Given the description of an element on the screen output the (x, y) to click on. 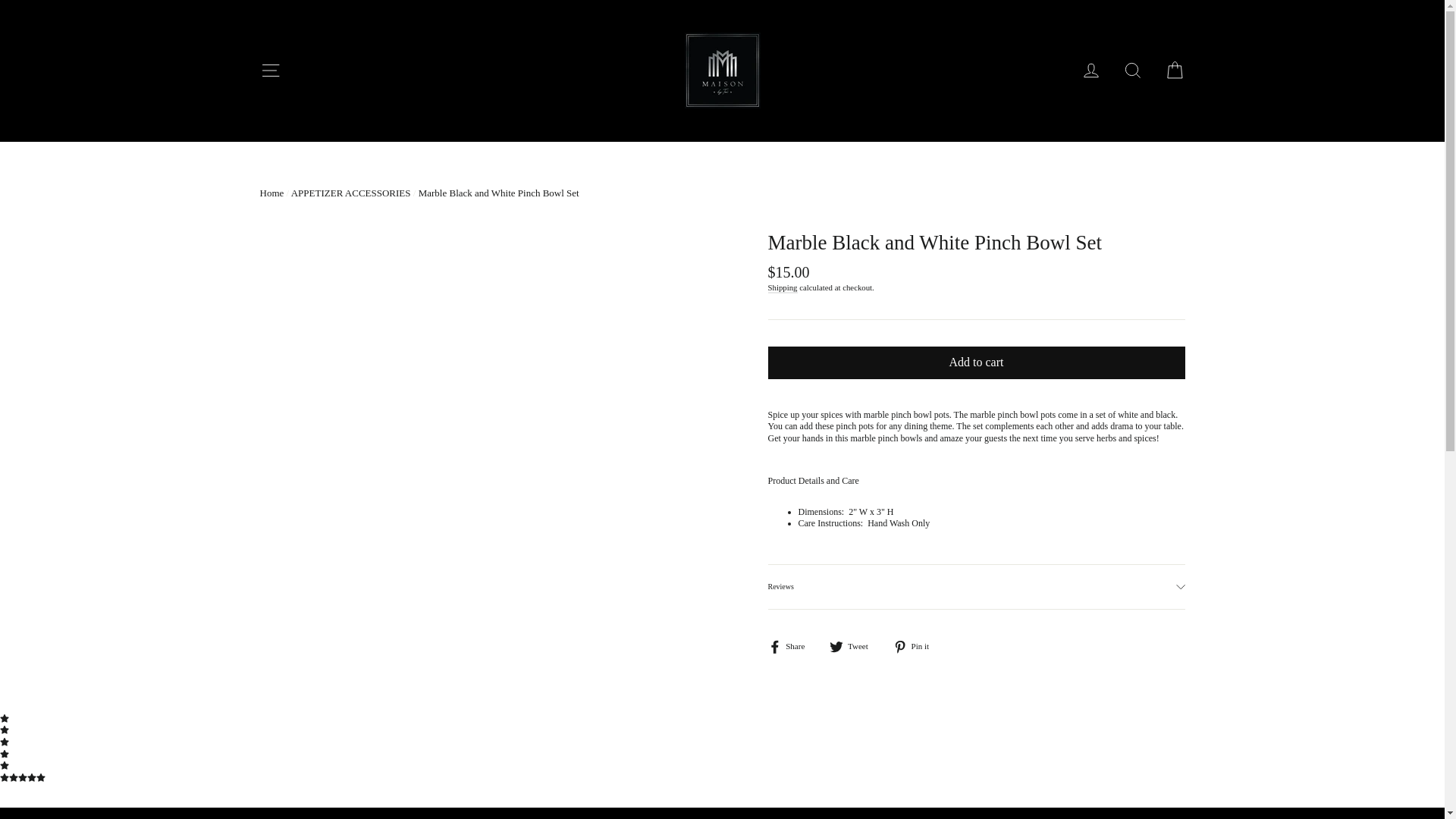
Search (1133, 70)
Back to the frontpage (271, 193)
Pin on Pinterest (916, 646)
Tweet on Twitter (854, 646)
Cart (1173, 70)
Share on Facebook (791, 646)
APPETIZER ACCESSORIES (350, 193)
Home (271, 193)
Site navigation (269, 70)
LOG IN (1089, 70)
